Given the description of an element on the screen output the (x, y) to click on. 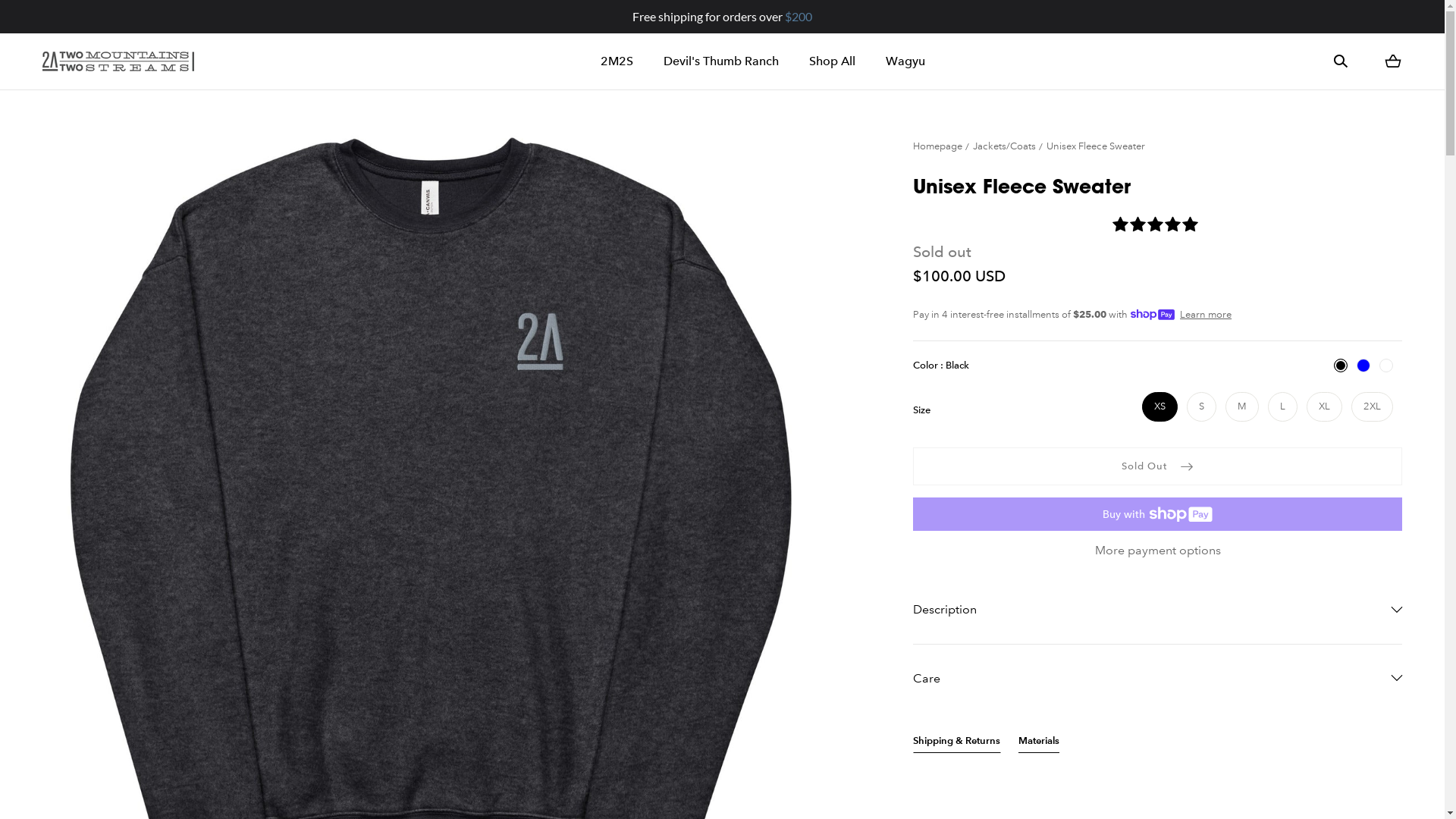
Materials Element type: text (1038, 743)
Shop All Element type: text (832, 61)
Homepage Element type: text (941, 146)
Cart
0 items Element type: text (1392, 61)
2 Mountains 2 Streams Element type: hover (118, 61)
  Element type: text (1157, 225)
4.9 rating (8 votes) Element type: hover (1157, 225)
Jackets/Coats Element type: text (1008, 146)
Sold Out Element type: text (1157, 466)
Devil's Thumb Ranch Element type: text (720, 61)
Shipping & Returns Element type: text (956, 743)
More payment options Element type: text (1157, 549)
Wagyu Element type: text (905, 61)
2M2S Element type: text (616, 61)
